Given the description of an element on the screen output the (x, y) to click on. 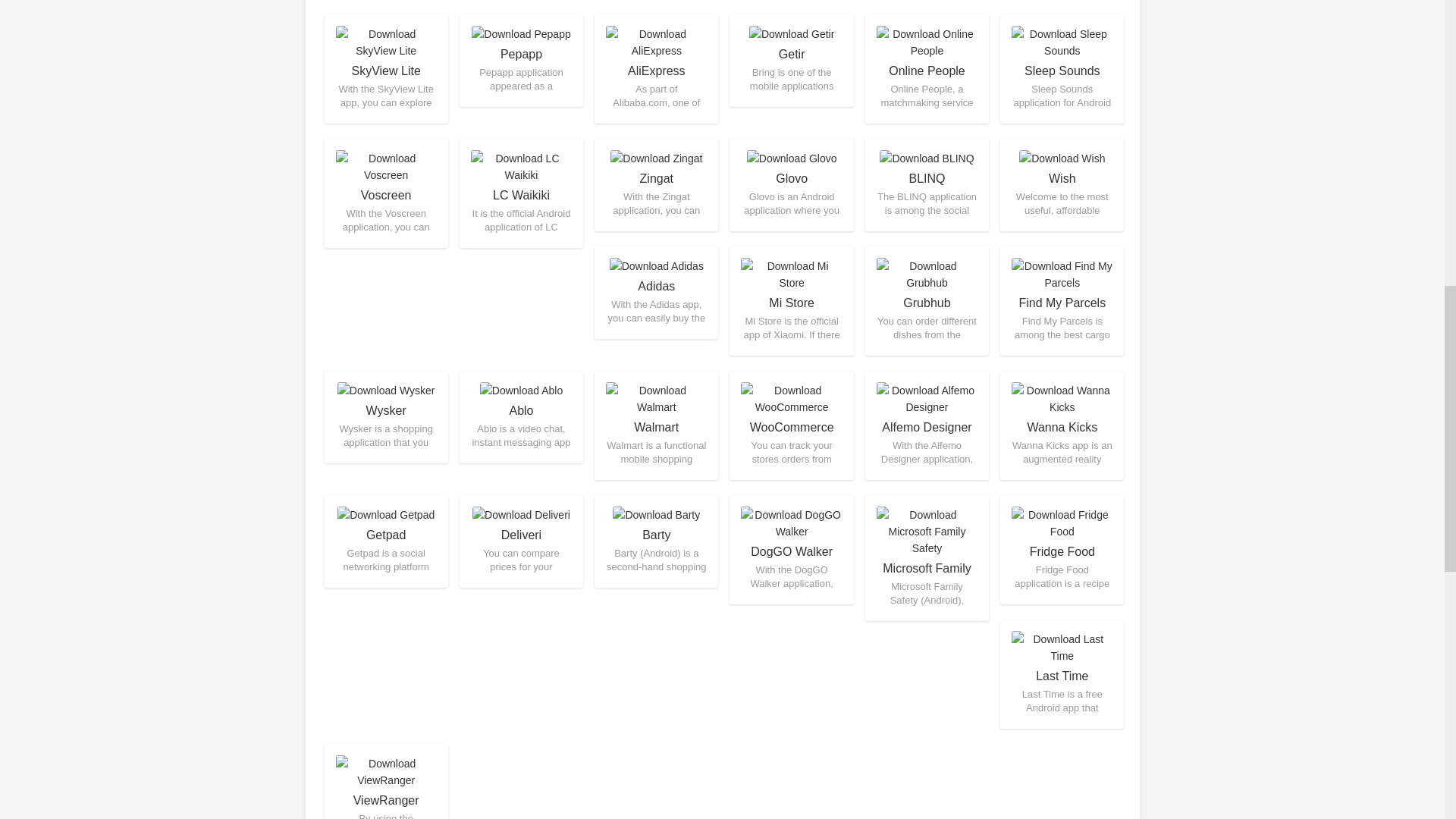
Download BLINQ (926, 184)
Download Online People (926, 68)
Download AliExpress (655, 68)
Download Sleep Sounds (1062, 68)
Download LC Waikiki (521, 193)
Download Wish (1062, 184)
Download Getir (791, 60)
Download Glovo (791, 184)
Download Pepapp (521, 60)
Download Zingat (655, 184)
